Given the description of an element on the screen output the (x, y) to click on. 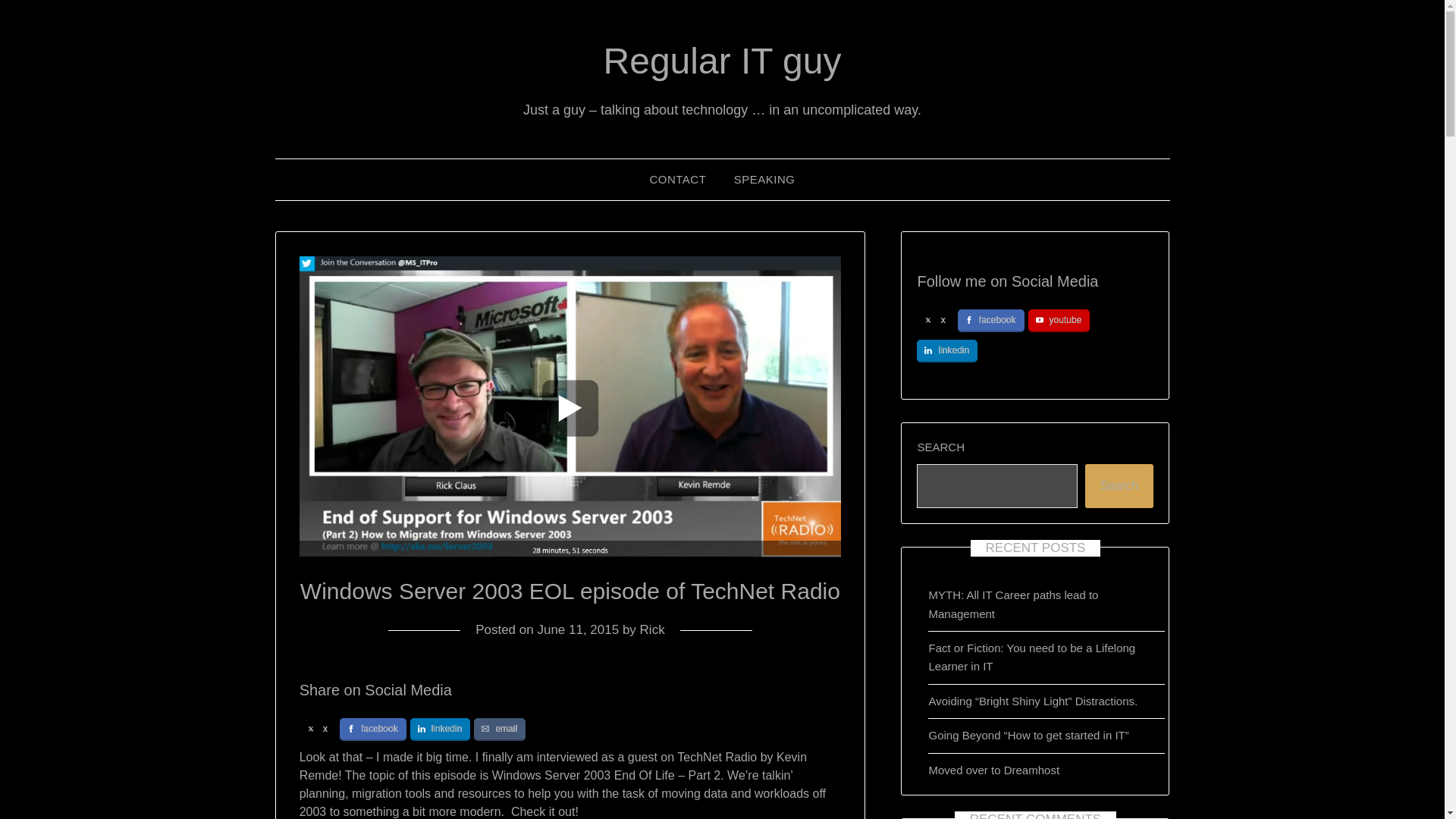
facebook (991, 320)
youtube (1058, 320)
facebook (372, 729)
Search (1119, 485)
MYTH: All IT Career paths lead to Management (1012, 603)
Rick (652, 629)
Fact or Fiction: You need to be a Lifelong Learner in IT (1031, 656)
Regular IT guy (722, 60)
x (317, 729)
CONTACT (677, 178)
